Given the description of an element on the screen output the (x, y) to click on. 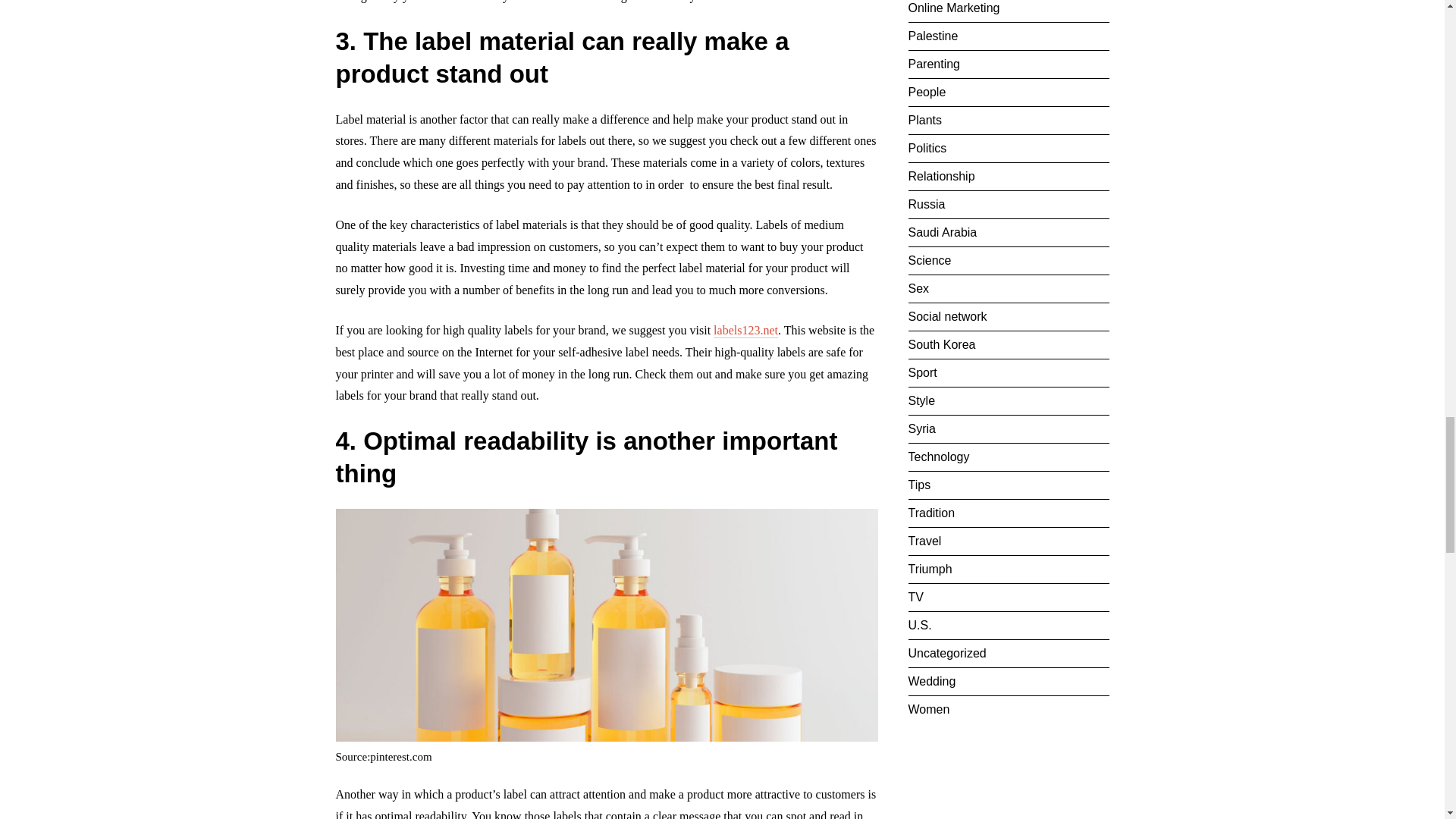
labels123.net (745, 329)
